Given the description of an element on the screen output the (x, y) to click on. 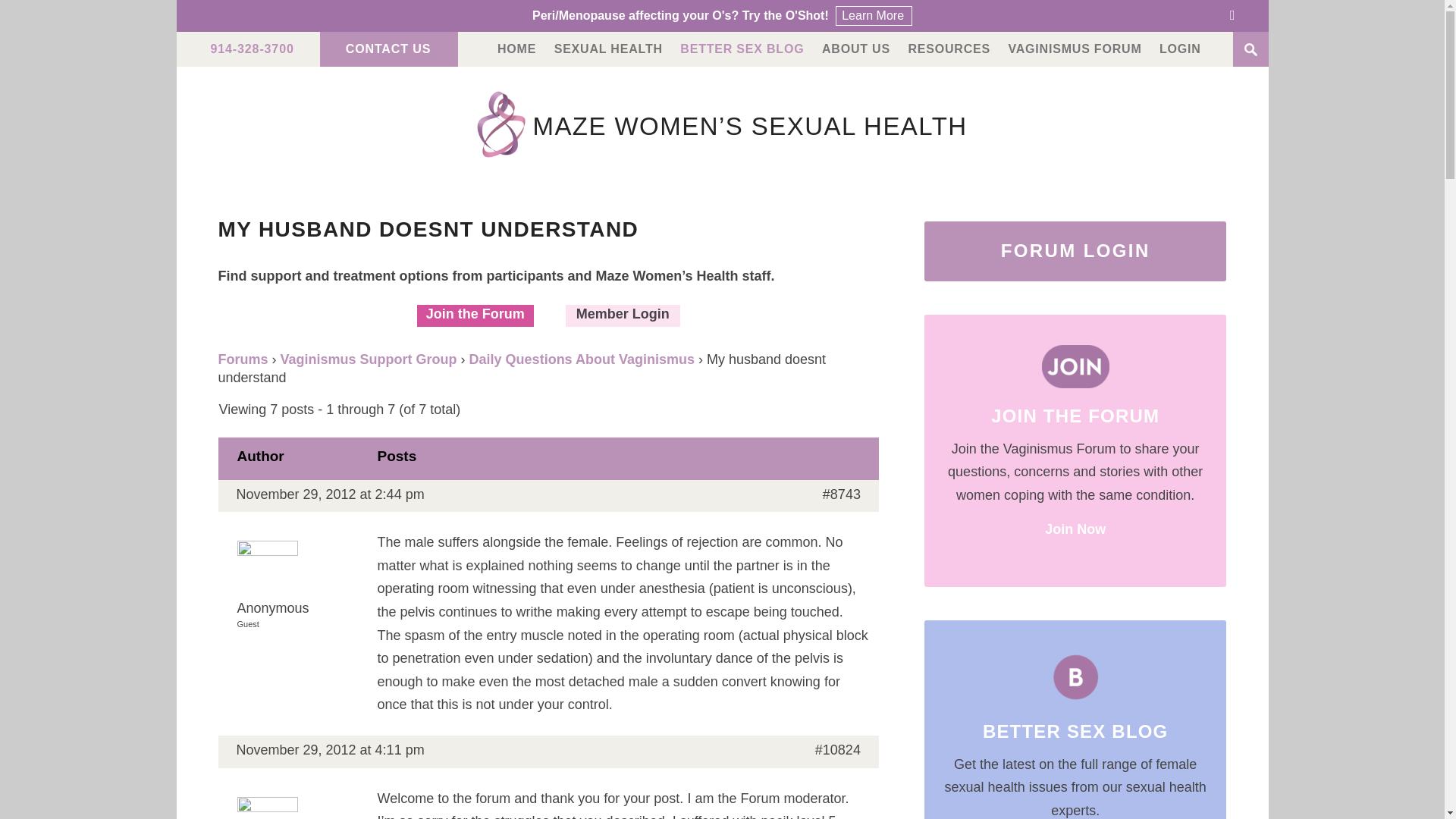
HOME (516, 49)
View Heather34's profile (296, 809)
ABOUT US (855, 49)
914-328-3700 (252, 49)
BETTER SEX BLOG (741, 49)
RESOURCES (948, 49)
SEXUAL HEALTH (608, 49)
CONTACT US (388, 49)
